Given the description of an element on the screen output the (x, y) to click on. 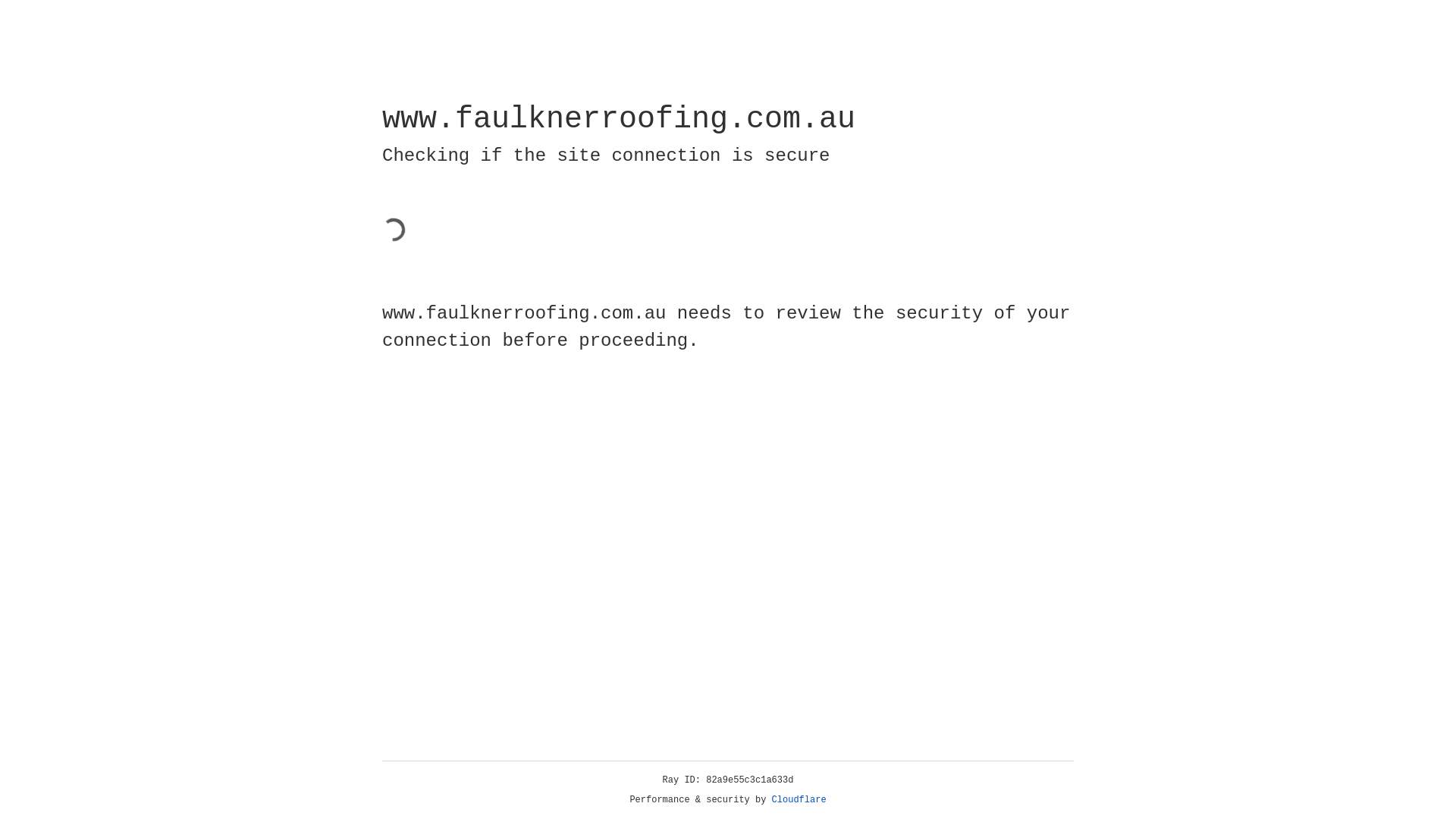
Cloudflare Element type: text (798, 799)
